Given the description of an element on the screen output the (x, y) to click on. 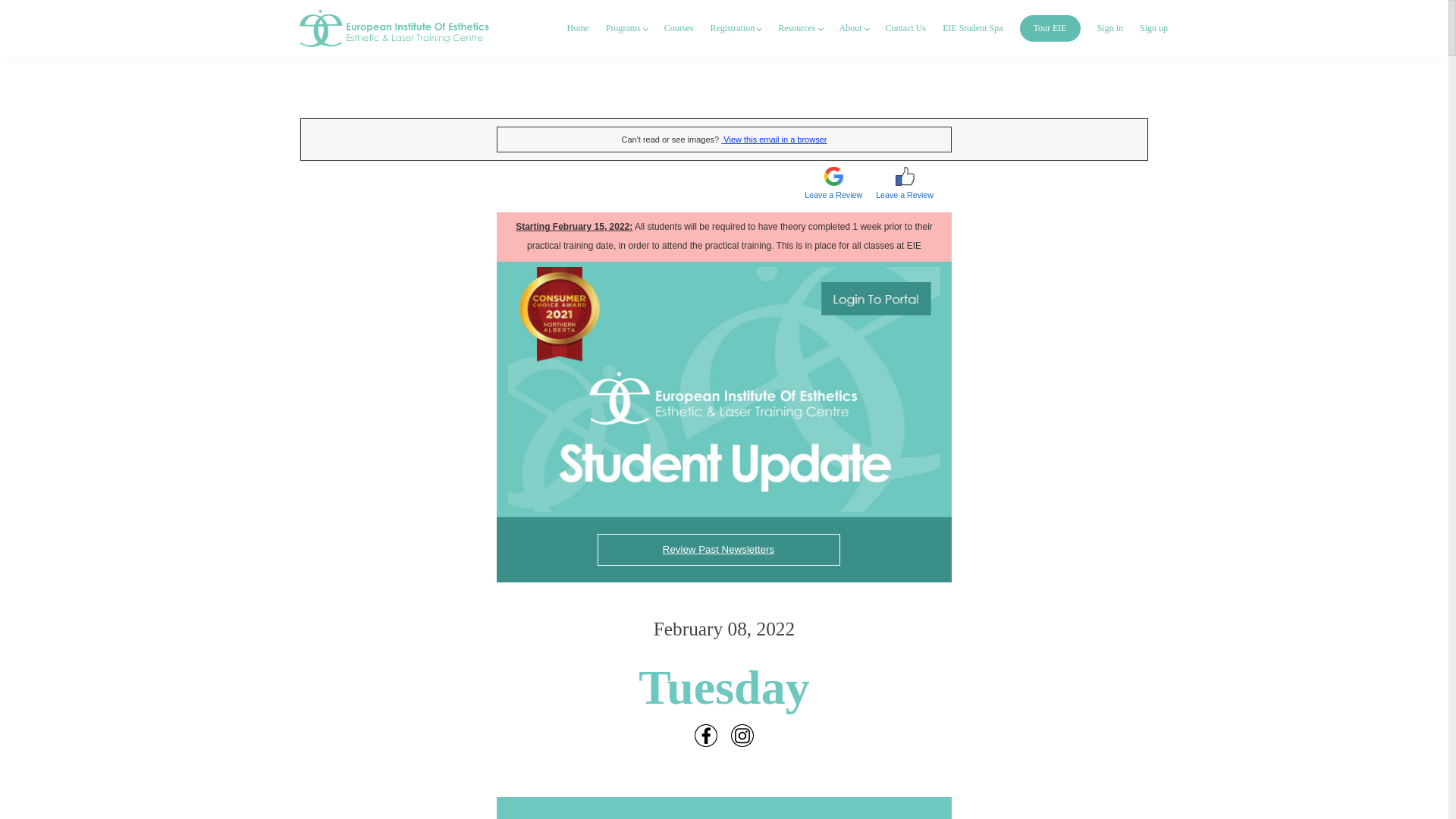
Home (578, 28)
About (852, 28)
Courses (678, 28)
